Given the description of an element on the screen output the (x, y) to click on. 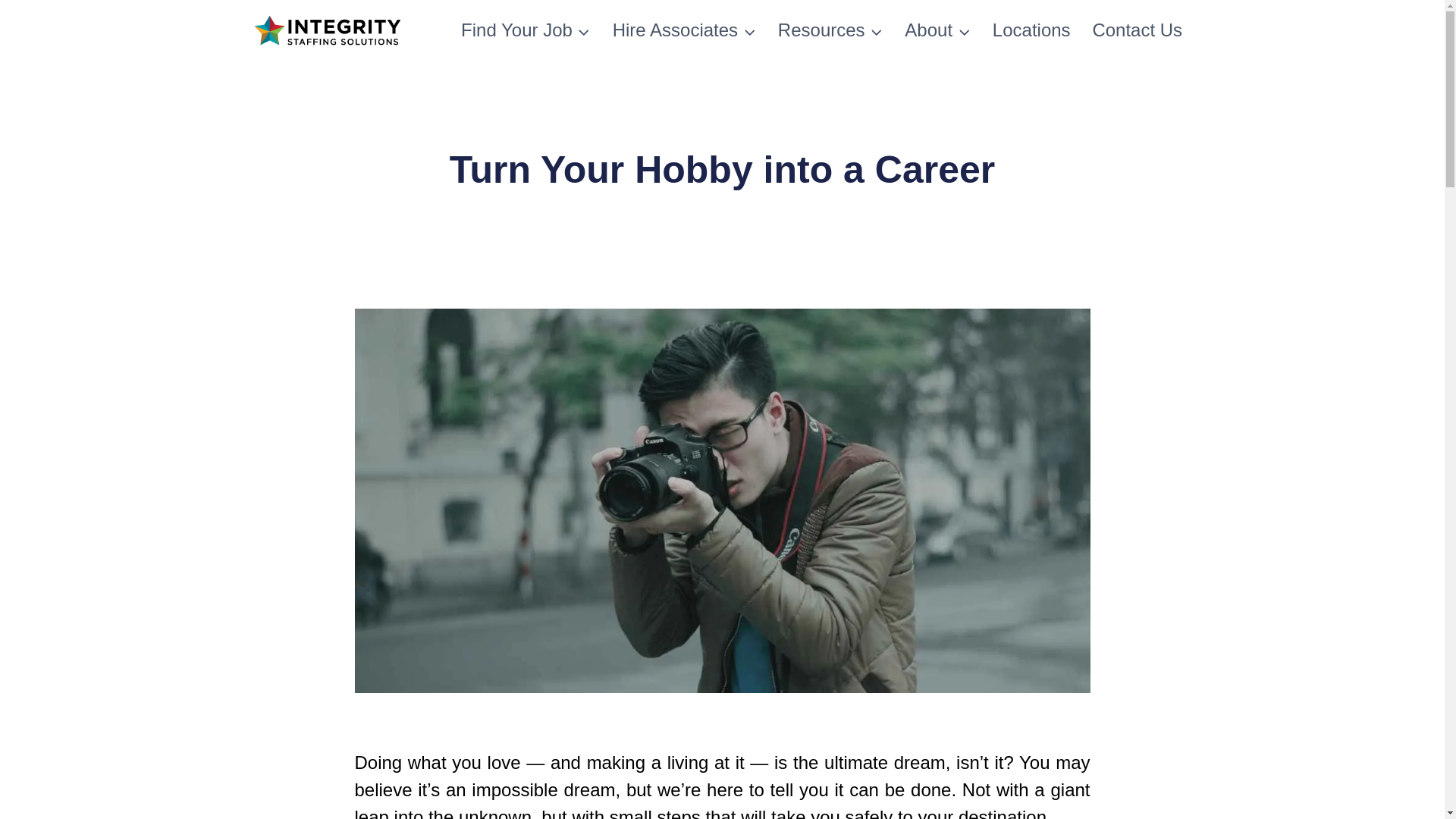
Hire Associates (684, 30)
Resources (830, 30)
About (937, 30)
Find Your Job (525, 30)
